Given the description of an element on the screen output the (x, y) to click on. 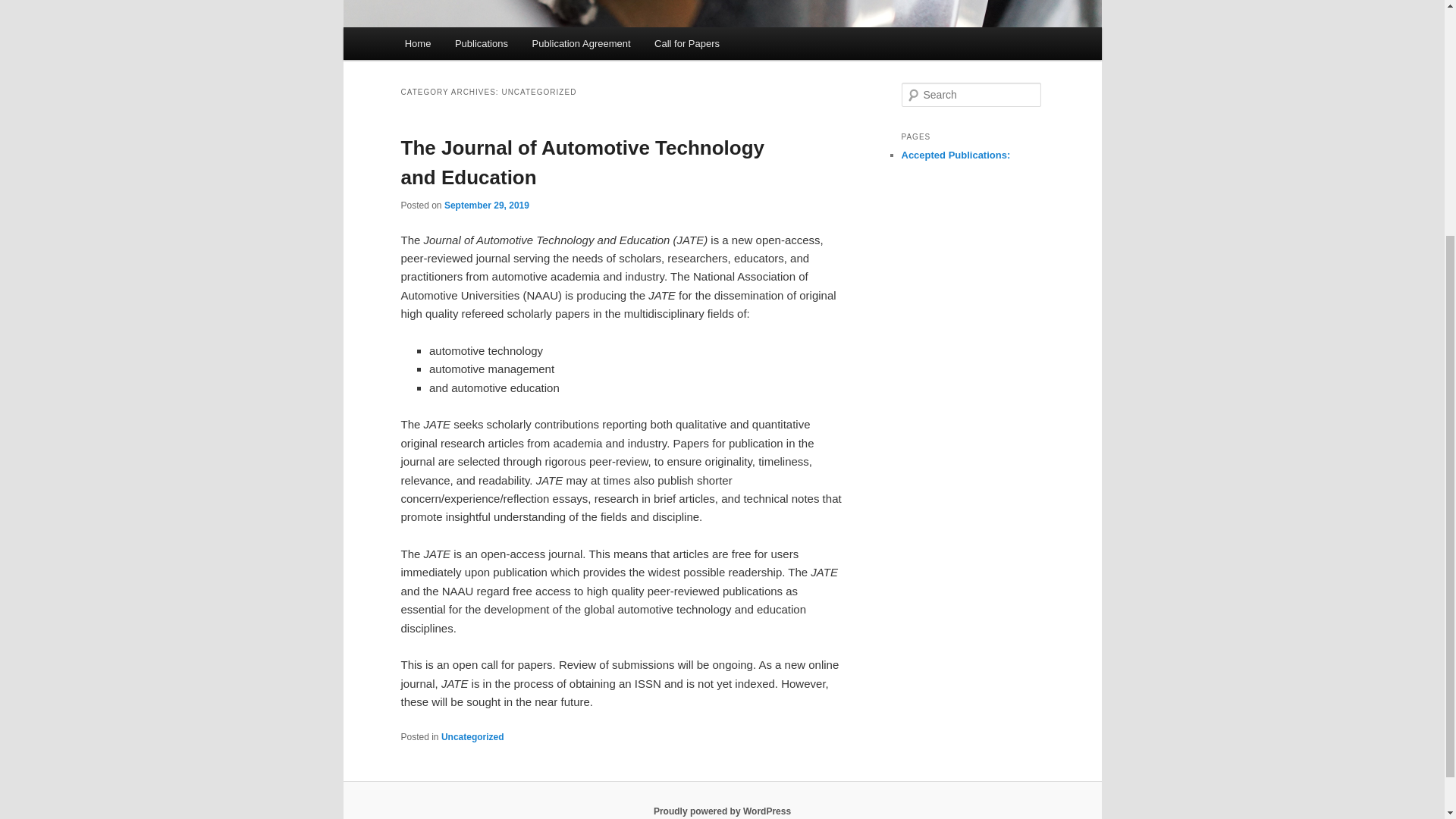
Home (417, 43)
Call for Papers (686, 43)
Publication Agreement (581, 43)
Publications (480, 43)
Uncategorized (472, 737)
September 29, 2019 (486, 204)
Accepted Publications: (955, 154)
The Journal of Automotive Technology and Education (582, 162)
5:50 am (486, 204)
Proudly powered by WordPress (721, 810)
Semantic Personal Publishing Platform (721, 810)
